Given the description of an element on the screen output the (x, y) to click on. 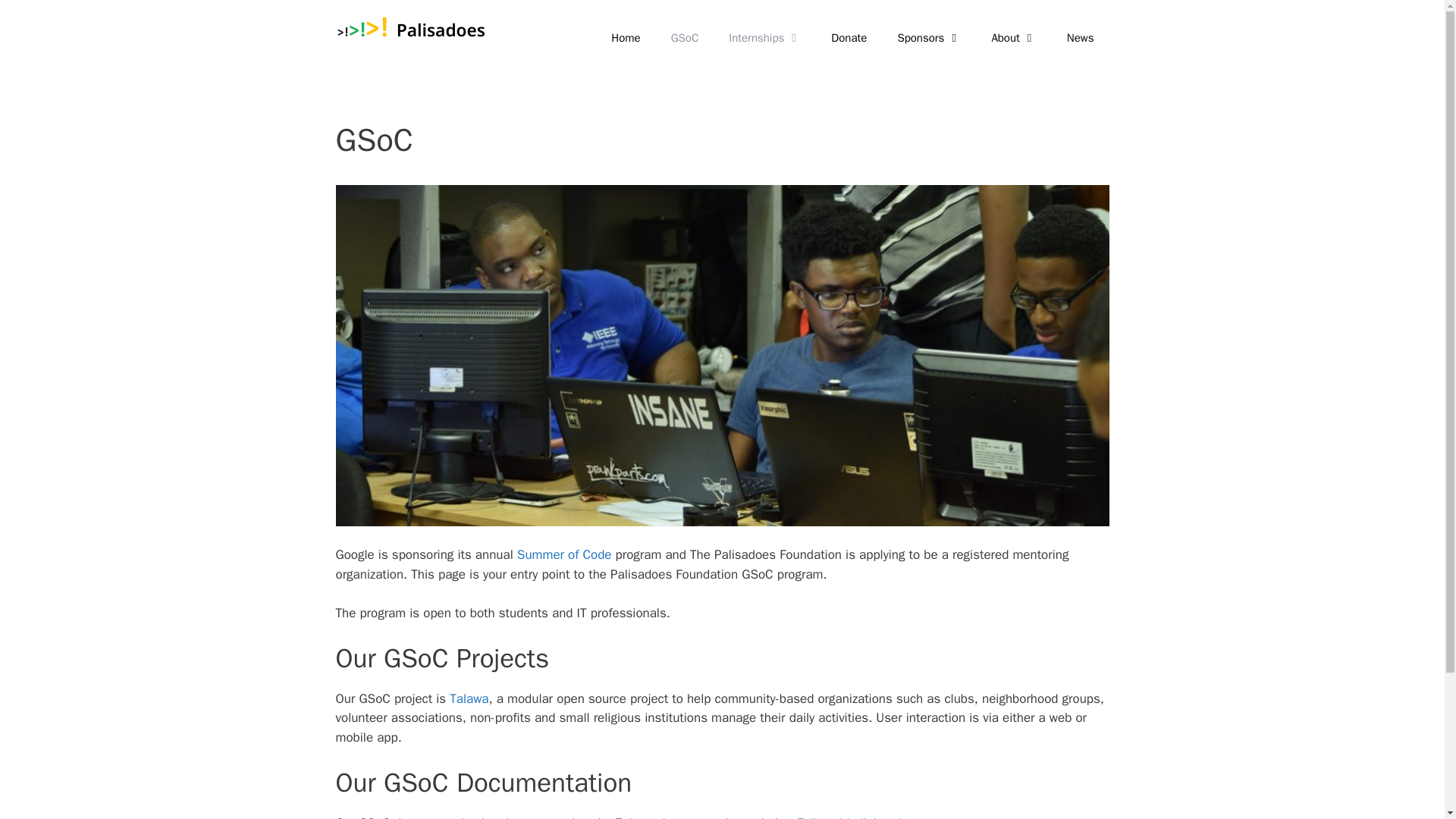
About (1013, 37)
Summer of Code (563, 554)
News (1080, 37)
Follow this link to learn more (877, 816)
GSoC (685, 37)
Home (625, 37)
Sponsors (928, 37)
Donate (848, 37)
Talawa (468, 698)
Internships (764, 37)
